Given the description of an element on the screen output the (x, y) to click on. 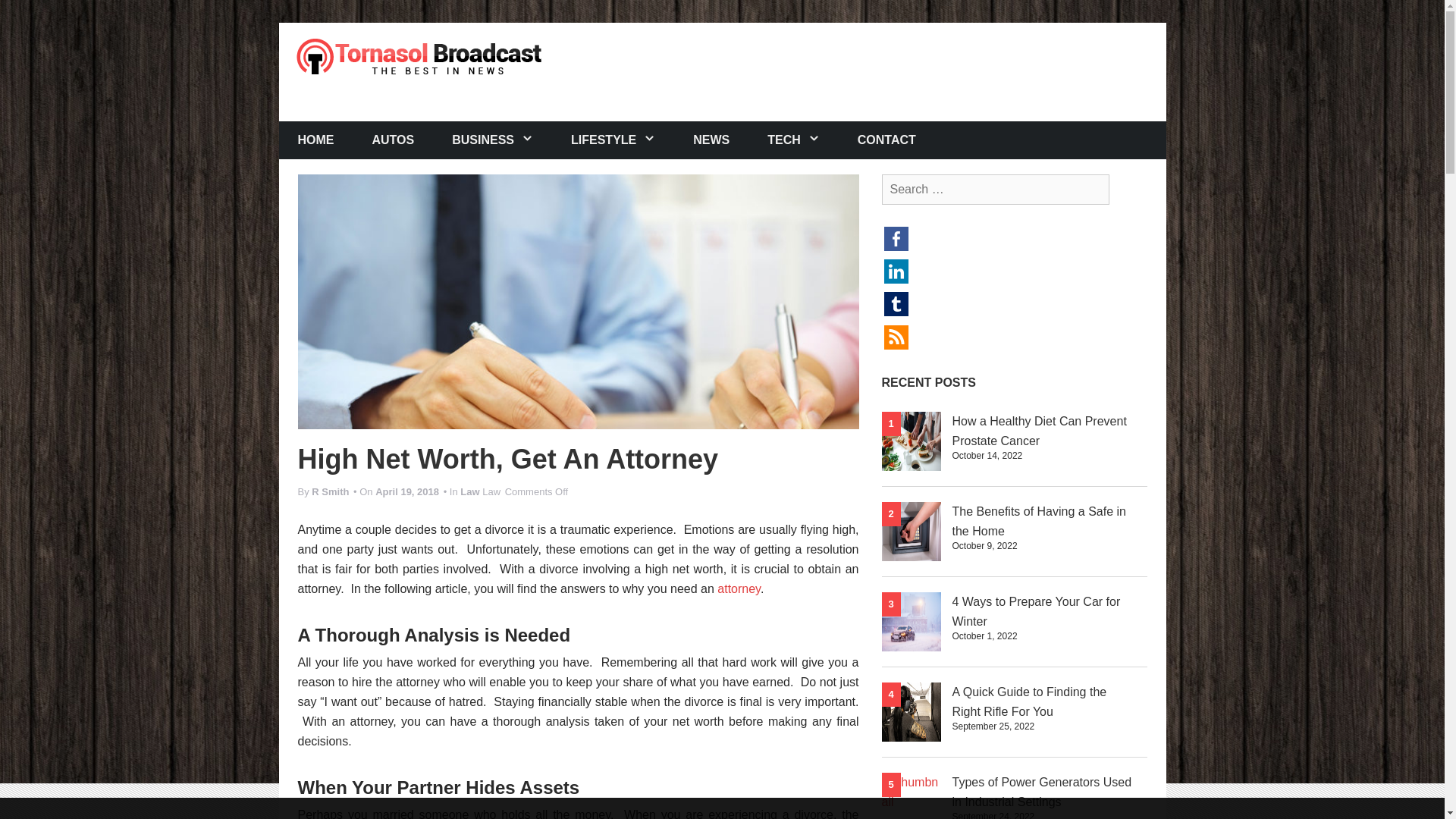
Law (490, 491)
R Smith (330, 491)
AUTOS (393, 139)
BUSINESS (491, 139)
Subscribe via RSS (895, 336)
CONTACT (886, 139)
April 19, 2018 (407, 491)
LinkedIn (895, 269)
TornasolBroadcast (419, 55)
Types of Power Generators Used in Industrial Settings (1042, 791)
TECH (793, 139)
Law (469, 491)
Search (24, 9)
attorney (738, 588)
